Given the description of an element on the screen output the (x, y) to click on. 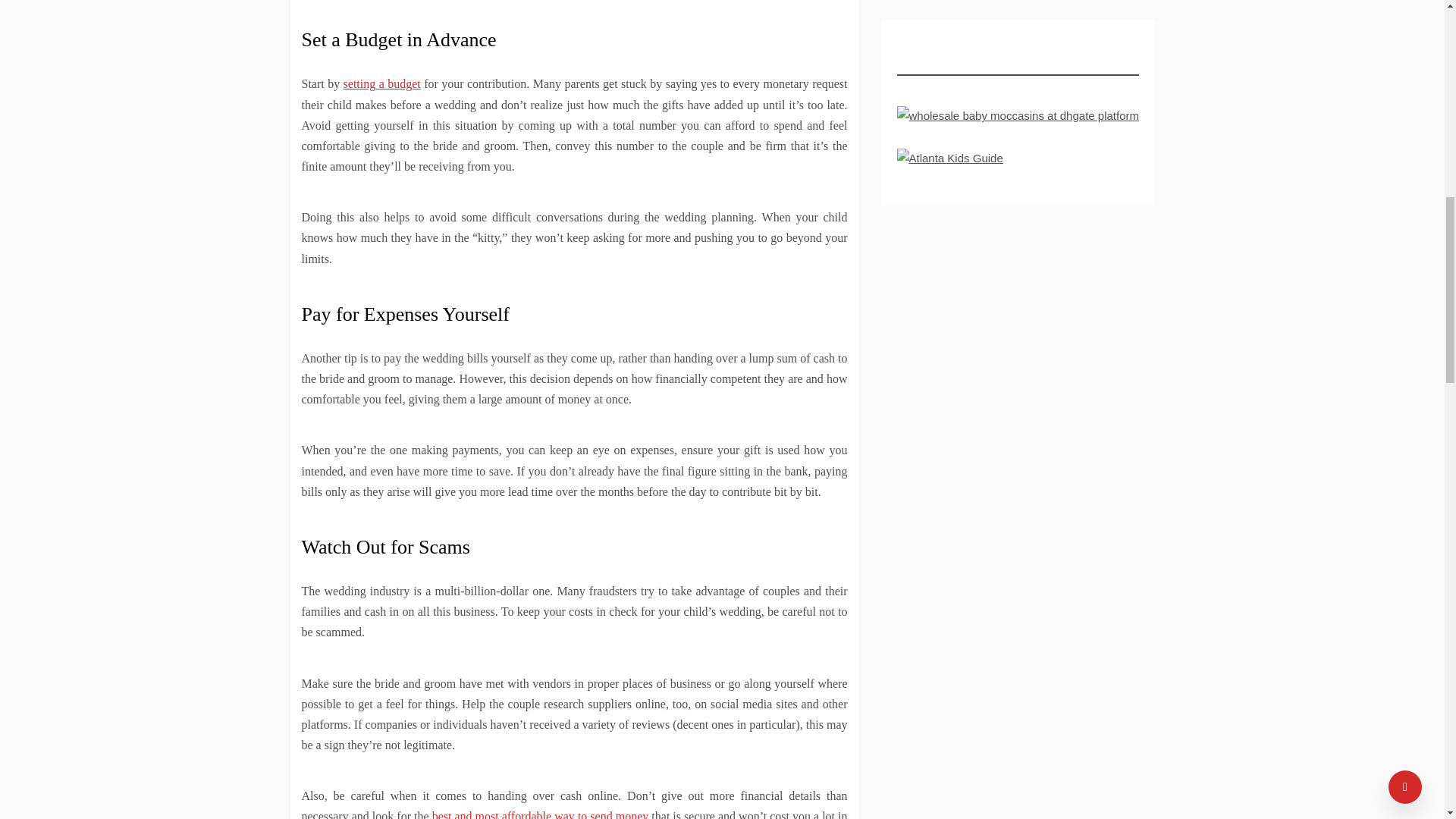
setting a budget (381, 83)
Atlanta Kids Guide (949, 162)
best and most affordable way to send money (540, 814)
